Given the description of an element on the screen output the (x, y) to click on. 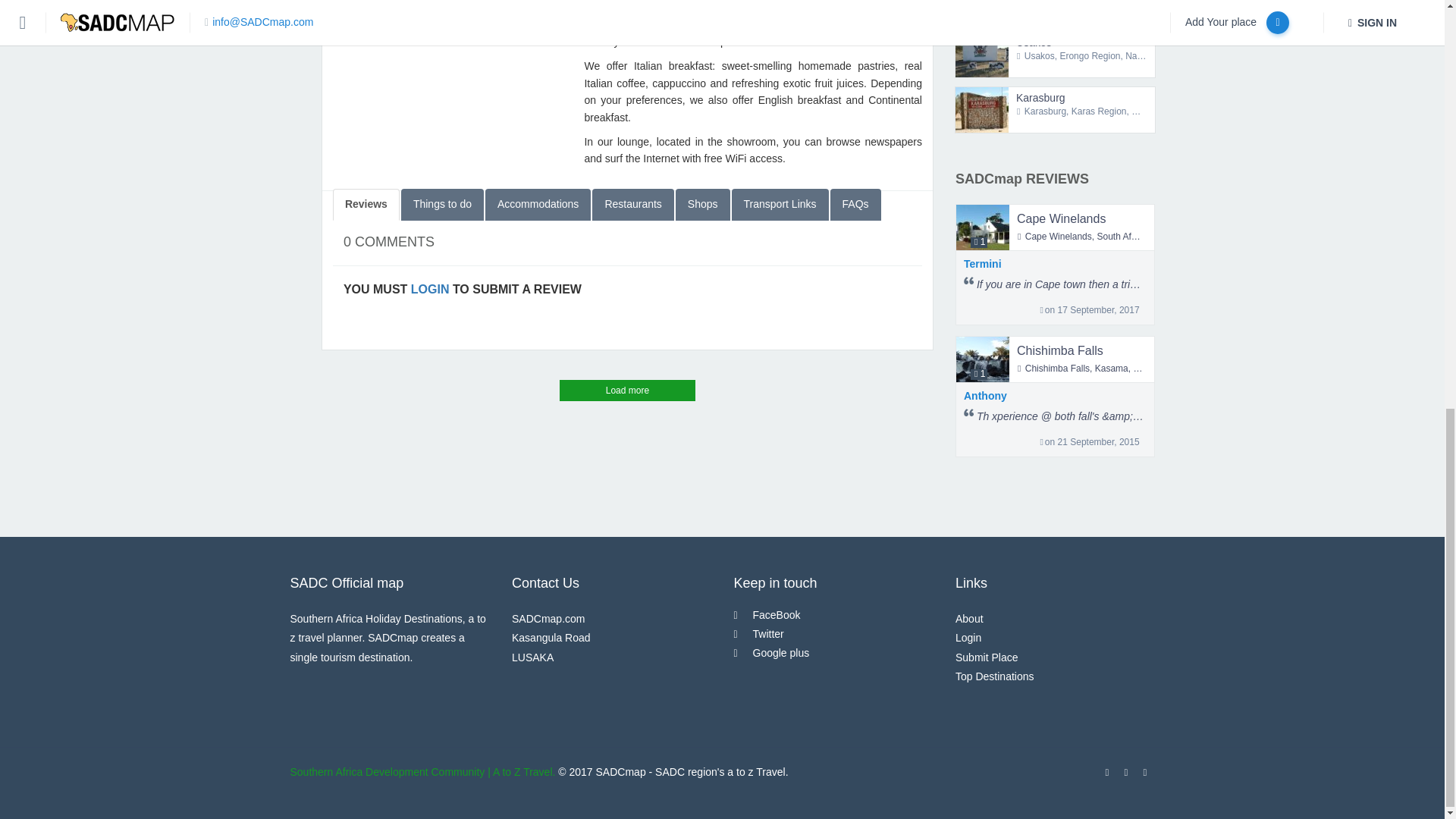
Reviews (365, 204)
CONTACT OWNER (448, 28)
Twitter (388, 2)
Social (448, 3)
Facebook (371, 2)
